Given the description of an element on the screen output the (x, y) to click on. 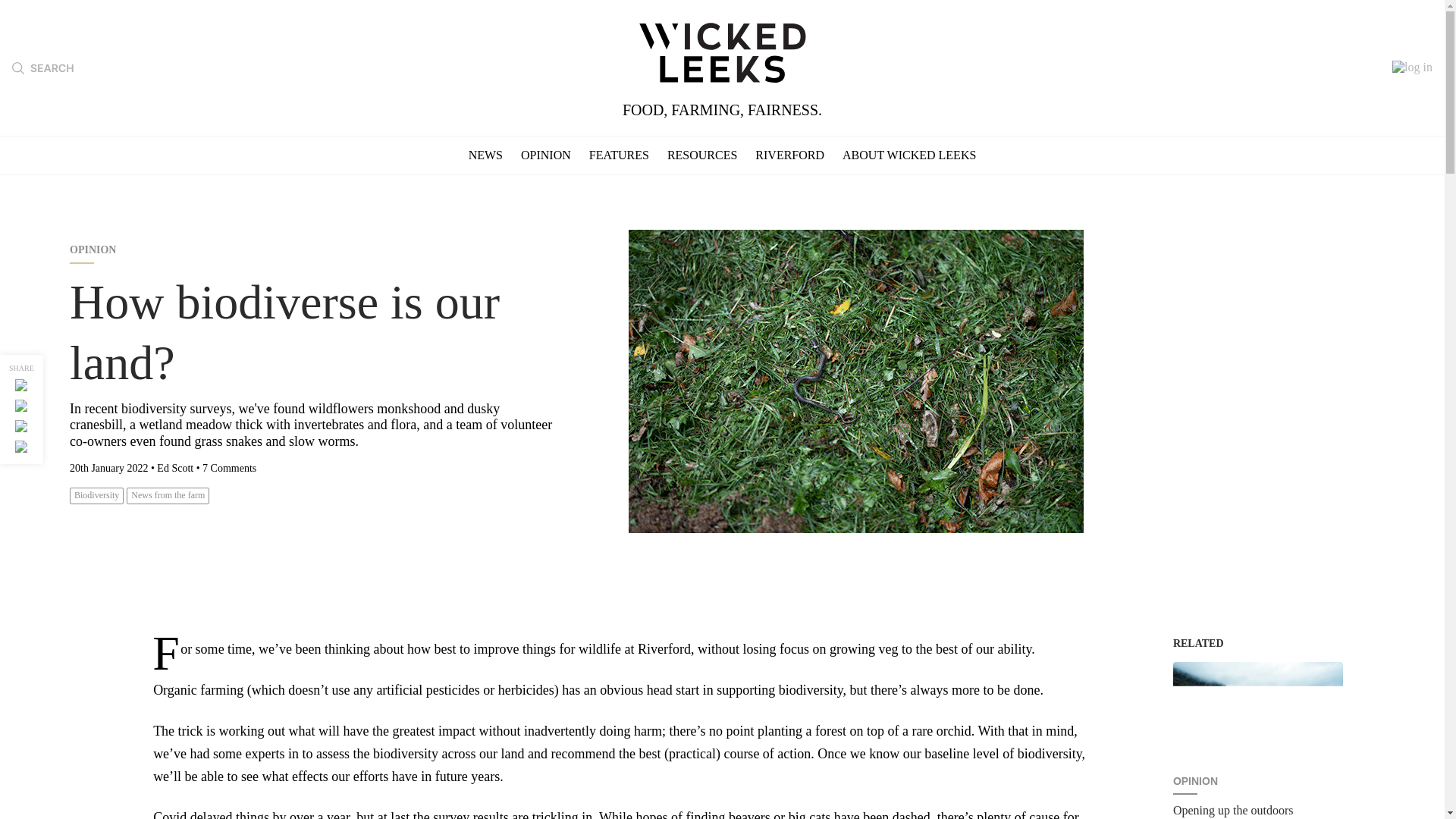
OPINION (545, 155)
FEATURES (618, 155)
Posts by Ed Scott (175, 468)
RESOURCES (701, 155)
NEWS (486, 155)
ABOUT WICKED LEEKS (908, 155)
RIVERFORD (788, 155)
